Given the description of an element on the screen output the (x, y) to click on. 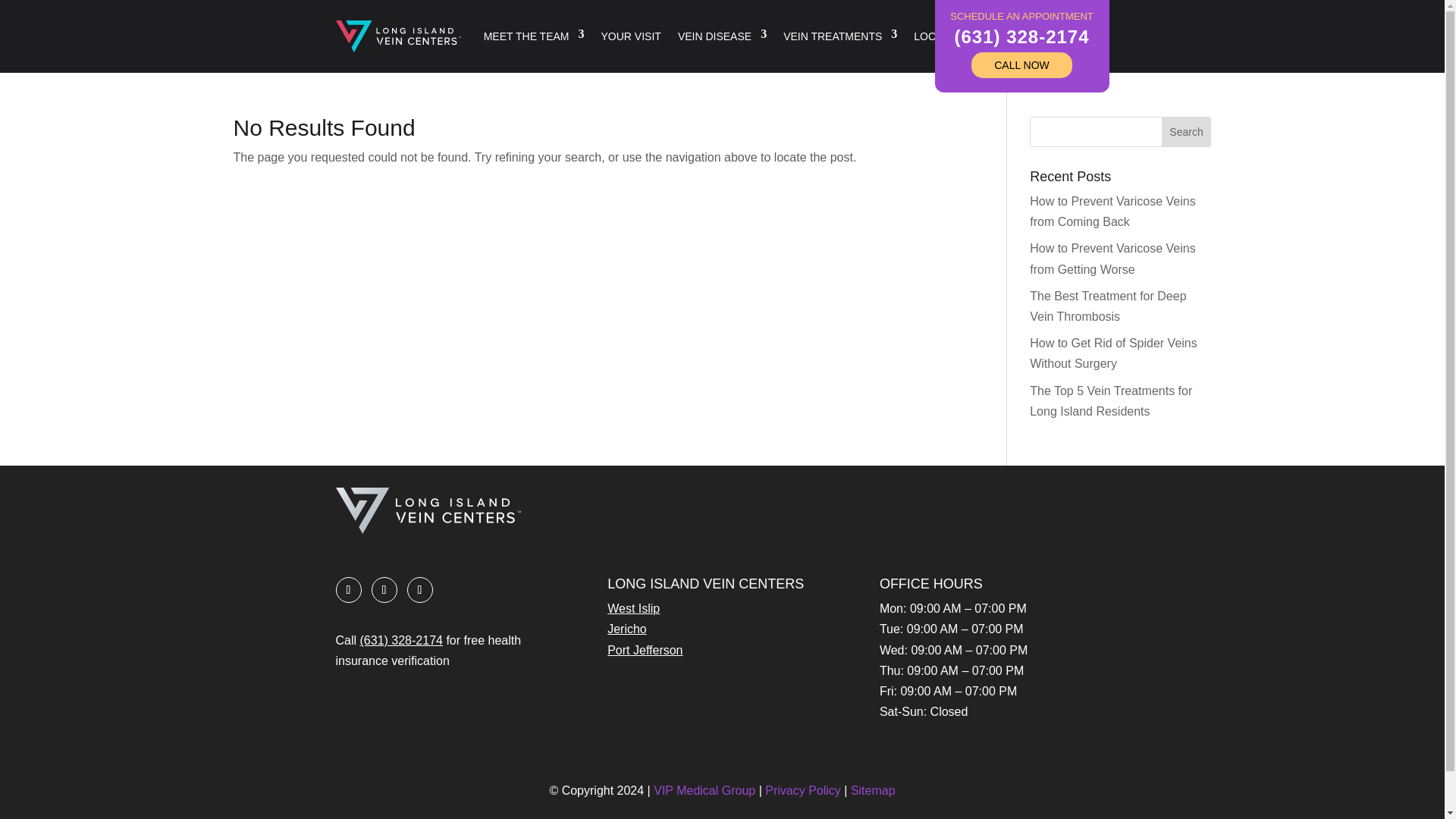
Follow on Youtube (419, 589)
Follow on google-plus (384, 589)
VEIN TREATMENTS (839, 36)
VEIN DISEASE (722, 36)
LOCATIONS (952, 36)
Search (1186, 132)
MEET THE TEAM (534, 36)
YOUR VISIT (631, 36)
Follow on Facebook (347, 589)
logo-ligth (426, 510)
